Given the description of an element on the screen output the (x, y) to click on. 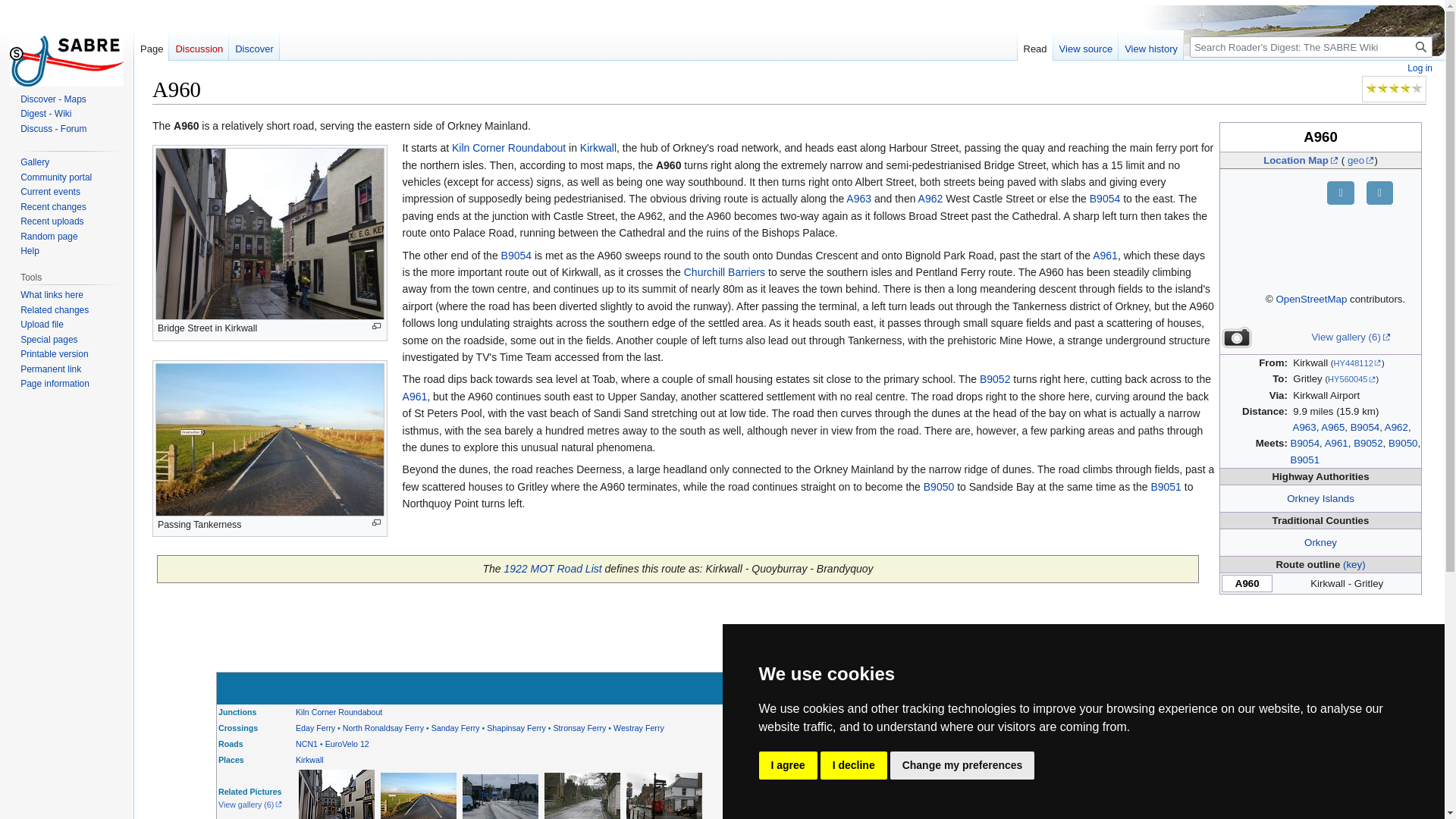
Zoom in (1340, 192)
geo (1361, 160)
B9051 (1304, 460)
A965 (1331, 427)
Wiki:Article Rating (1383, 87)
Orkney Islands Council (1320, 498)
Orkney (1320, 542)
HY448112 (1356, 362)
A962 (930, 198)
Orkney Islands (1320, 498)
A963 (857, 198)
A963 (1304, 427)
Search (1420, 46)
Change my preferences (962, 765)
Wiki:Article Rating (1394, 87)
